Given the description of an element on the screen output the (x, y) to click on. 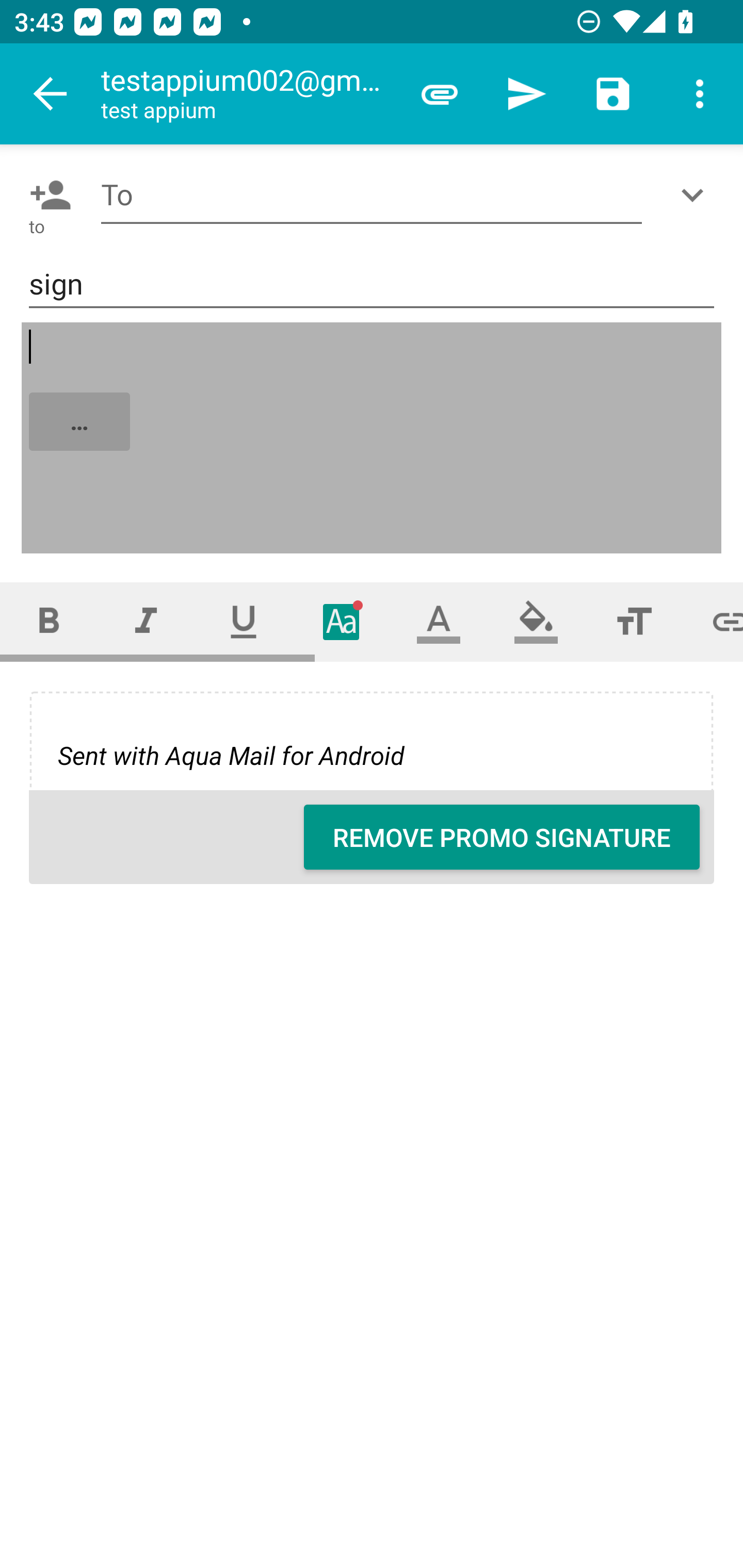
Navigate up (50, 93)
testappium002@gmail.com test appium (248, 93)
Attach (439, 93)
Send (525, 93)
Save (612, 93)
More options (699, 93)
Pick contact: To (46, 195)
Show/Add CC/BCC (696, 195)
To (371, 195)
sign (371, 284)

…
 (372, 438)
Bold (48, 621)
Italic (145, 621)
Underline (243, 621)
Typeface (font) (341, 621)
Text color (438, 621)
Fill color (536, 621)
Font size (633, 621)
REMOVE PROMO SIGNATURE (501, 837)
